Given the description of an element on the screen output the (x, y) to click on. 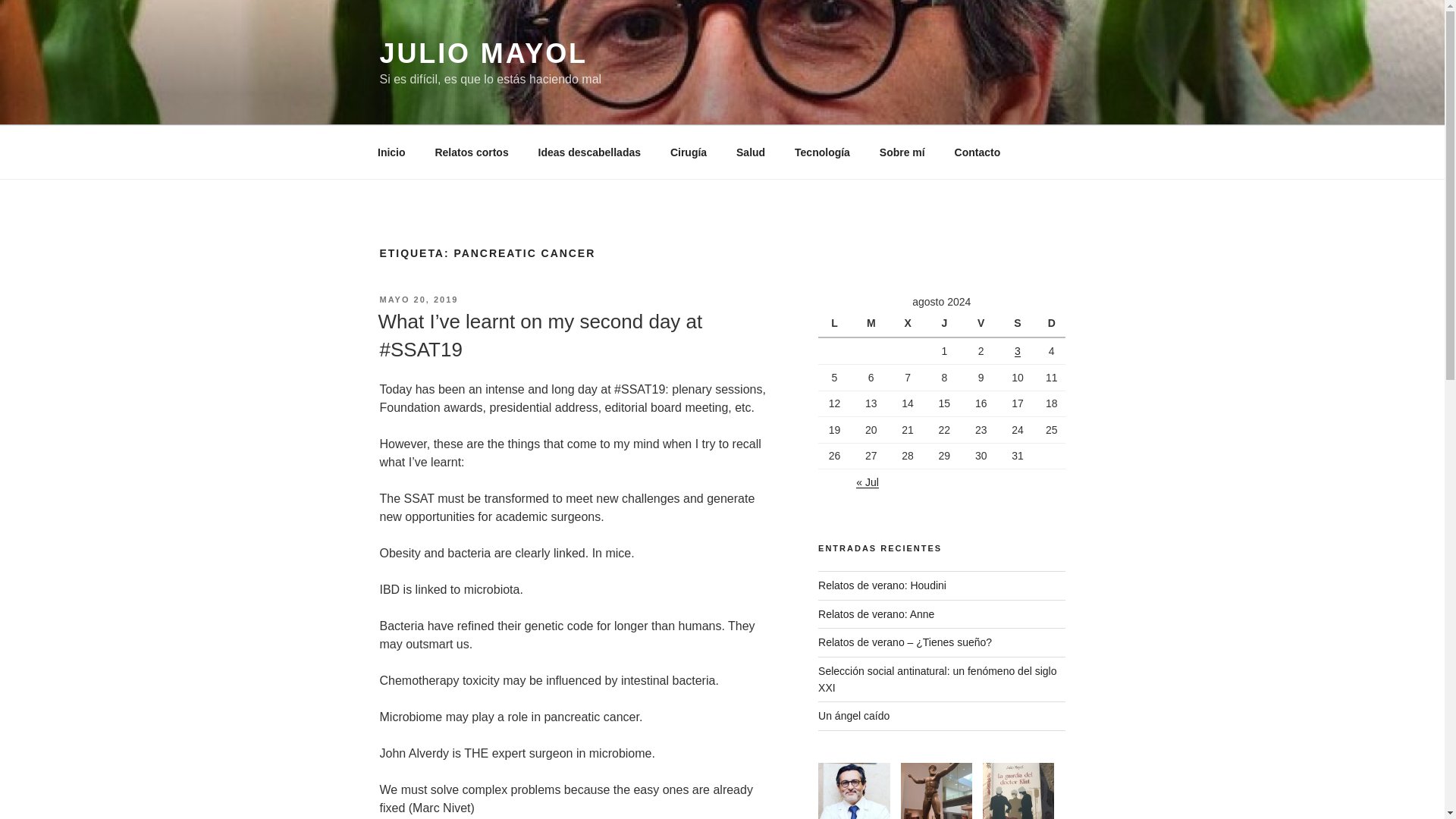
viernes (982, 323)
Inicio (391, 151)
lunes (836, 323)
Relatos de verano: Anne (876, 613)
MAYO 20, 2019 (418, 298)
Relatos de verano: Houdini (882, 585)
jueves (945, 323)
domingo (1051, 323)
martes (872, 323)
Ideas descabelladas (588, 151)
Salud (750, 151)
JULIO MAYOL (482, 52)
Relatos cortos (471, 151)
Contacto (976, 151)
